Given the description of an element on the screen output the (x, y) to click on. 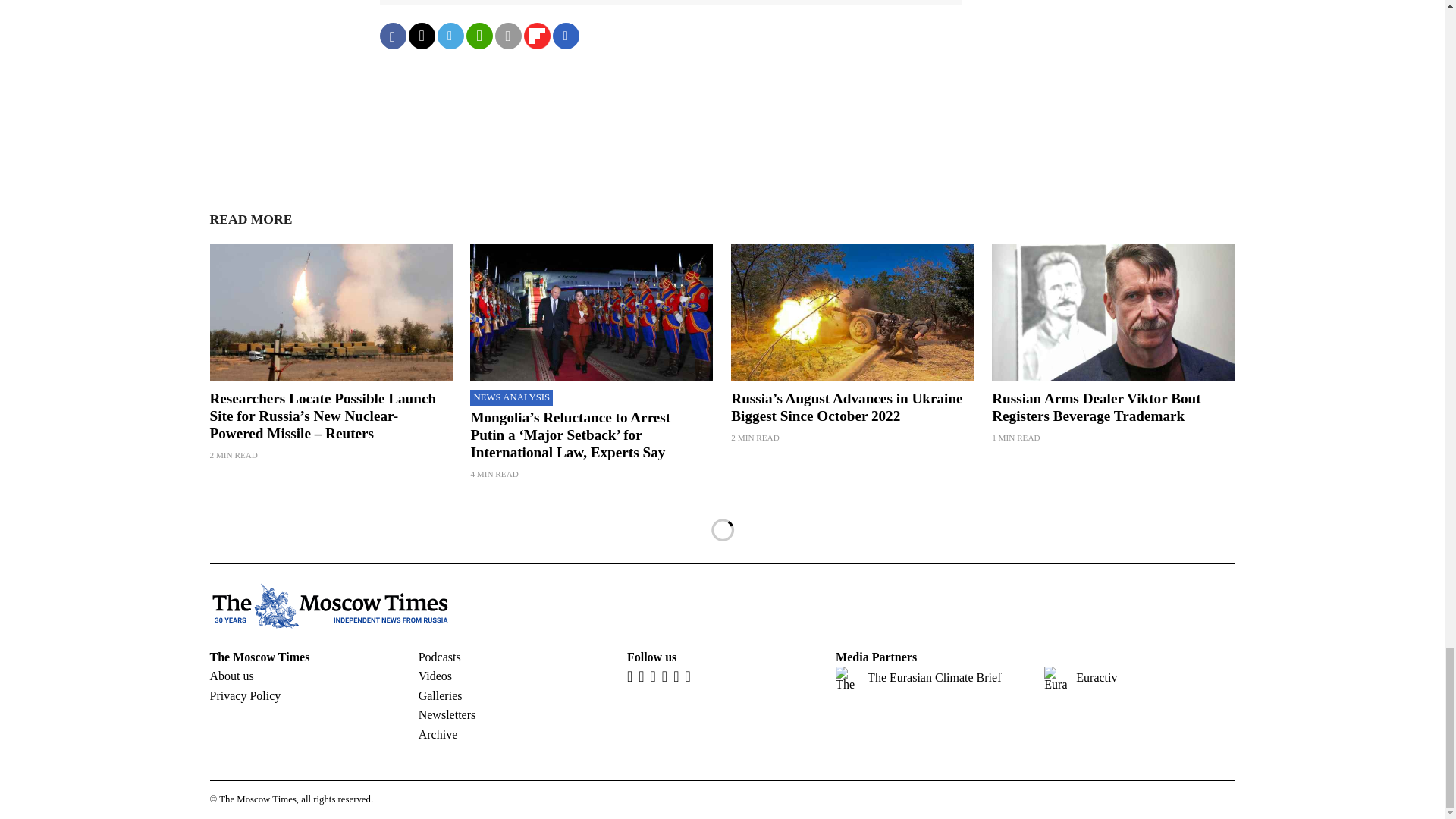
Share on Flipboard (536, 35)
Share on Facebook (392, 35)
Share on Twitter (420, 35)
Share on Telegram (449, 35)
